Given the description of an element on the screen output the (x, y) to click on. 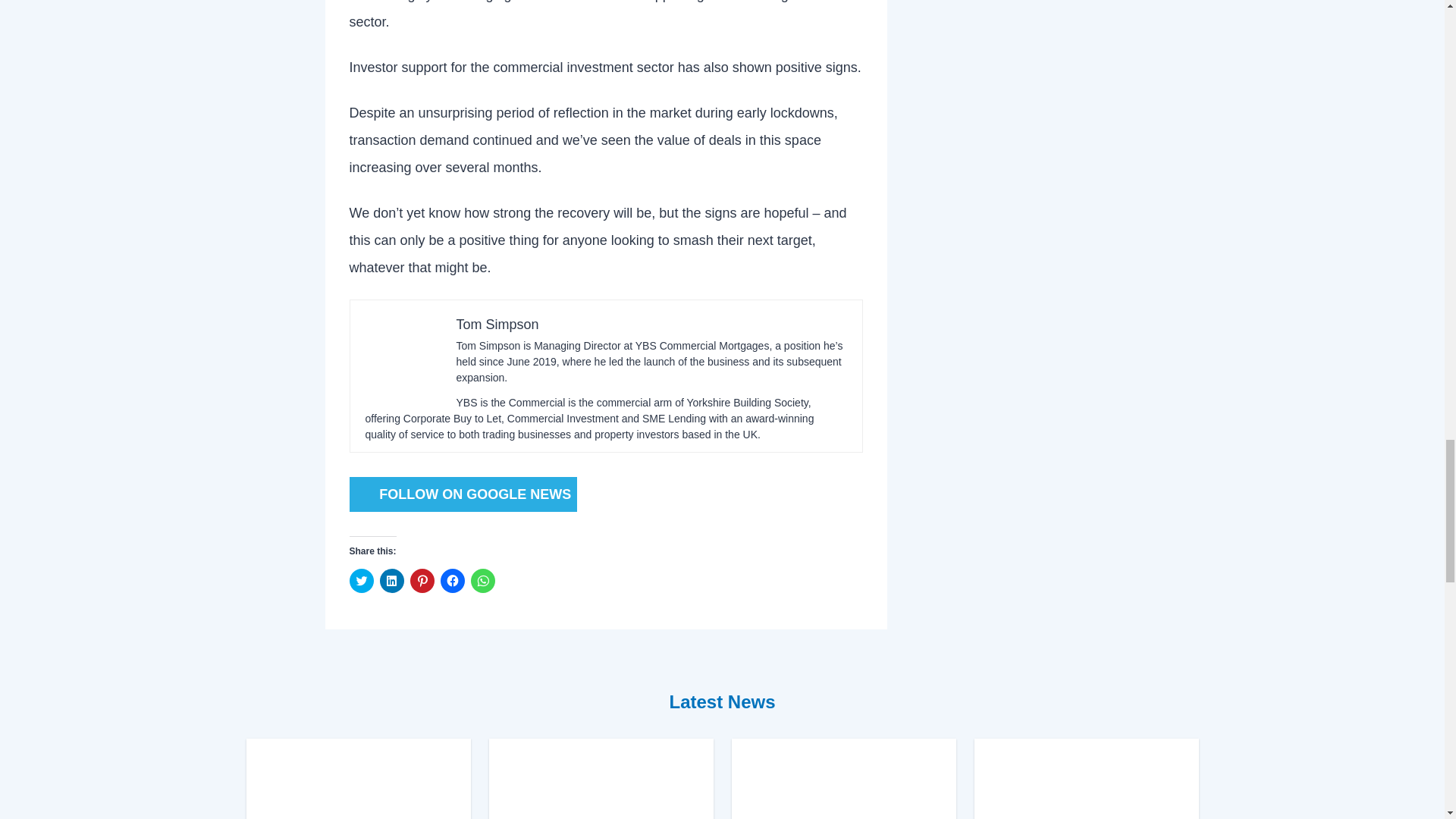
Click to share on Pinterest (421, 580)
Click to share on WhatsApp (482, 580)
Click to share on Facebook (451, 580)
Click to share on Twitter (360, 580)
Click to share on LinkedIn (390, 580)
